Given the description of an element on the screen output the (x, y) to click on. 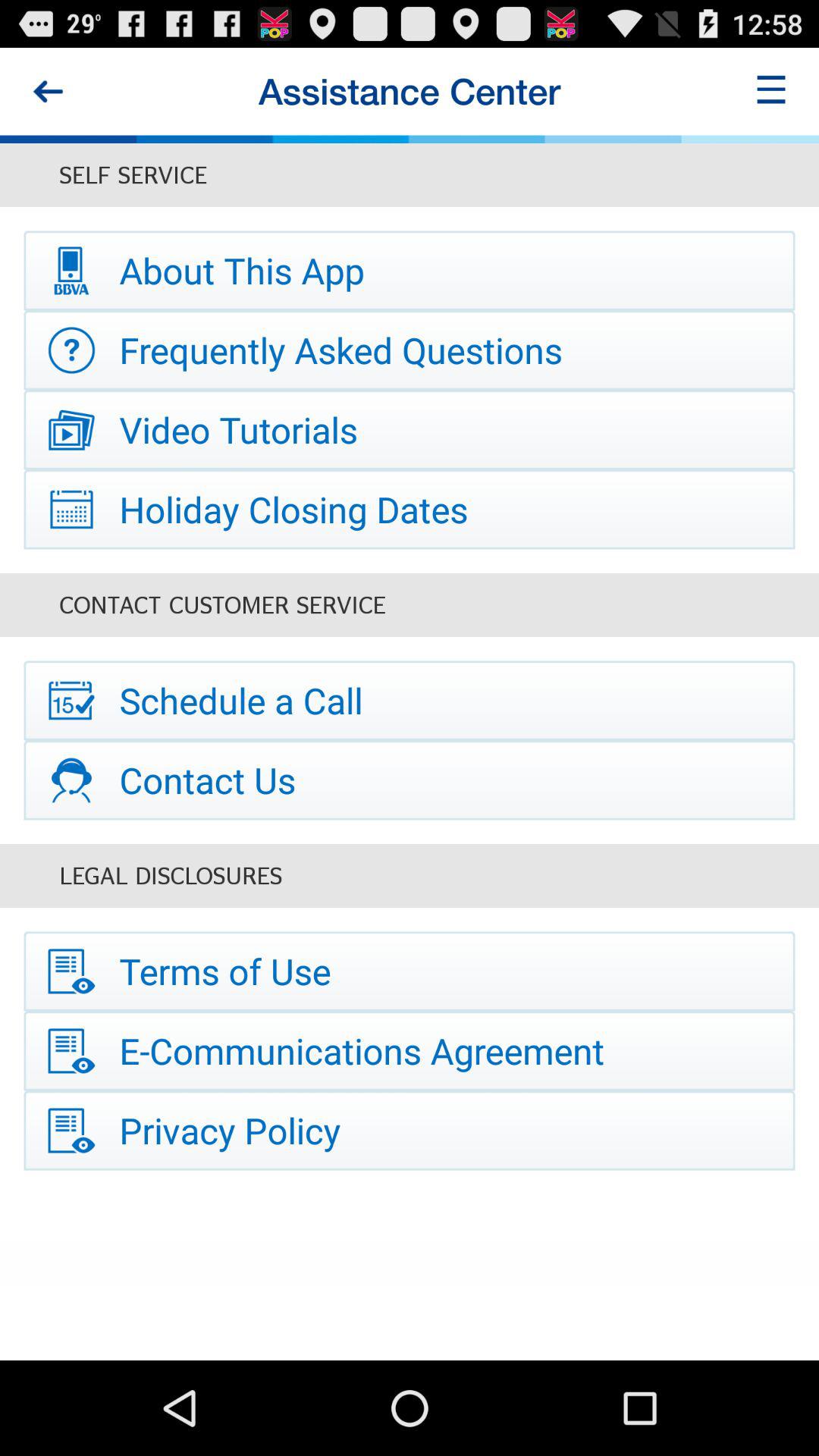
this button is used to go backward (47, 91)
